Given the description of an element on the screen output the (x, y) to click on. 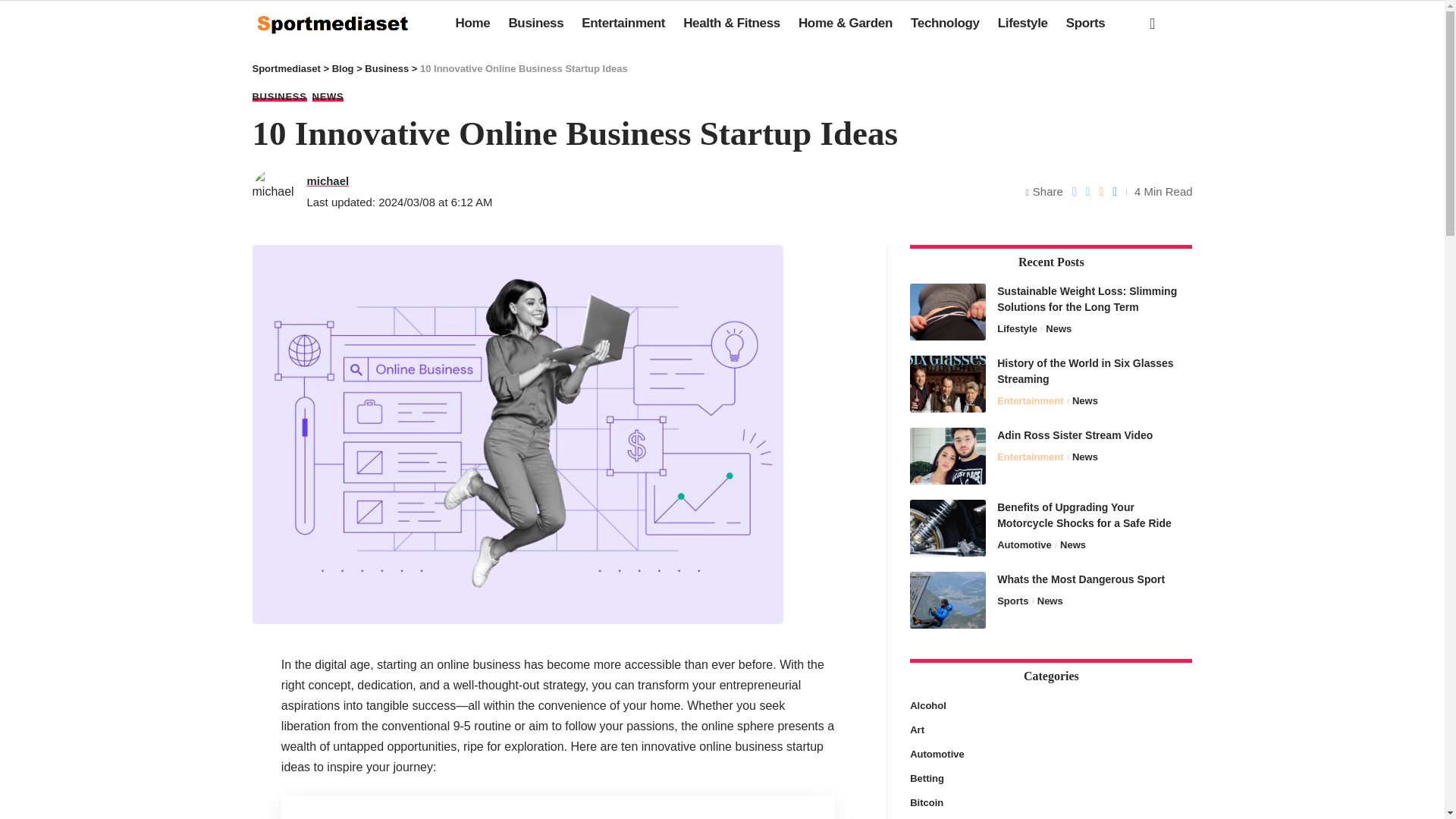
Lifestyle (1022, 22)
Whats the Most Dangerous Sport (947, 599)
Business (387, 68)
Go to Blog. (342, 68)
Home (472, 22)
Blog (342, 68)
Adin Ross Sister Stream Video (947, 455)
Business (535, 22)
Sports (1086, 22)
Go to the Business Category archives. (387, 68)
History of the World in Six Glasses Streaming (947, 382)
Go to Sportmediaset. (285, 68)
BUSINESS (278, 95)
Benefits of Upgrading Your Motorcycle Shocks for a Safe Ride (947, 527)
michael (327, 180)
